Given the description of an element on the screen output the (x, y) to click on. 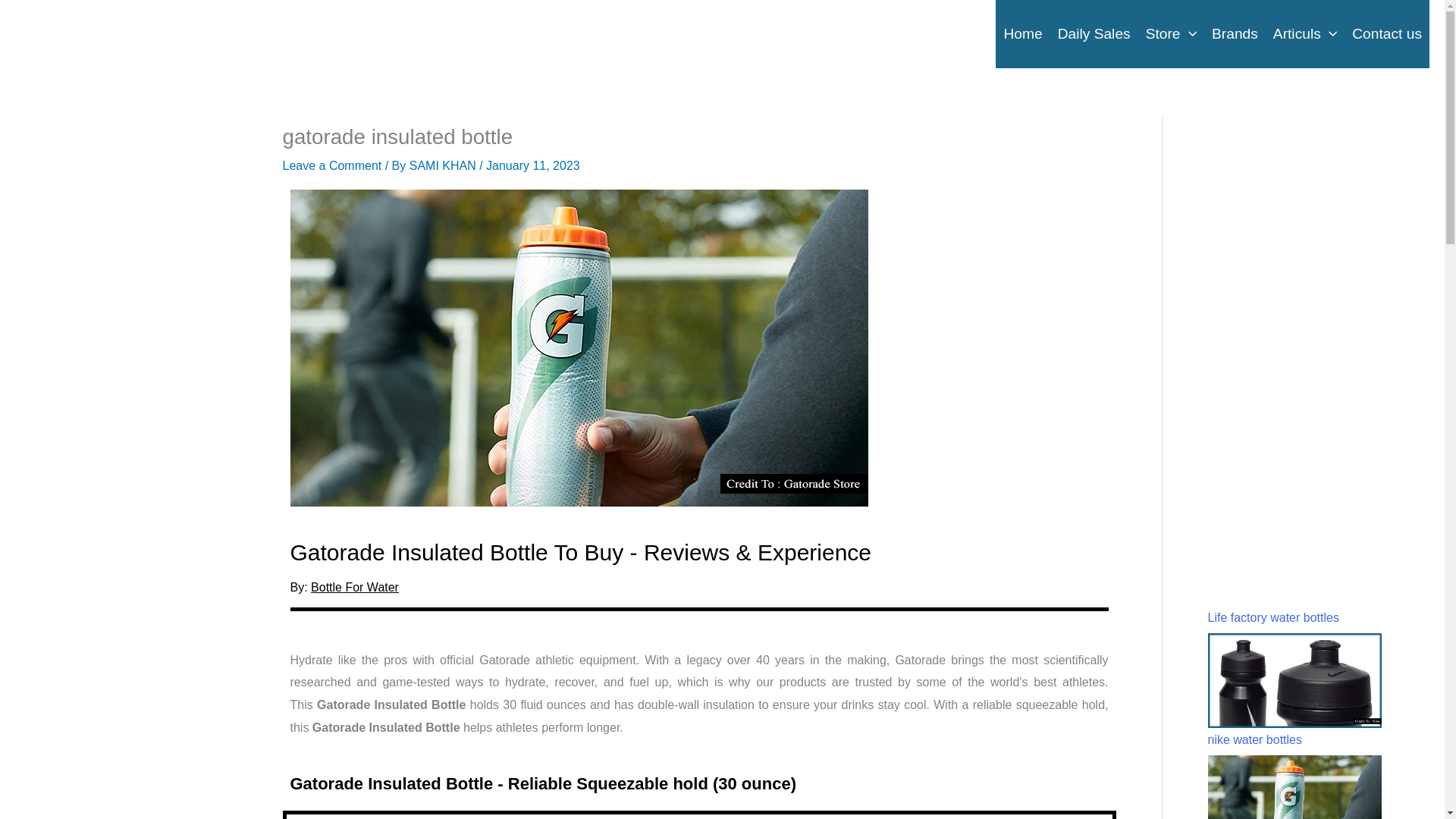
Brands (1234, 33)
SAMI KHAN (444, 164)
Store (1171, 33)
Daily Sales (1093, 33)
Contact us (1386, 33)
View all posts by SAMI KHAN (444, 164)
Articuls (1304, 33)
Leave a Comment (331, 164)
